Given the description of an element on the screen output the (x, y) to click on. 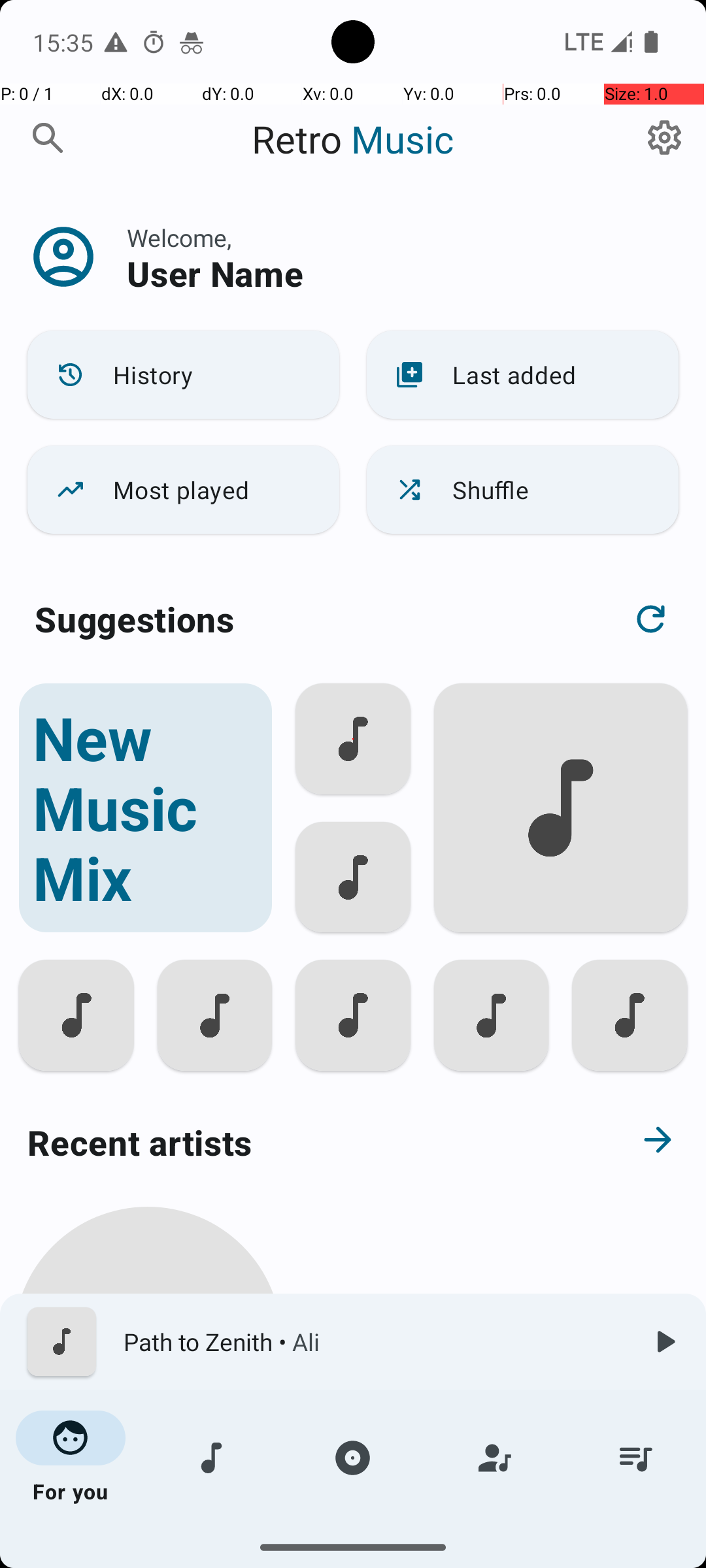
Path to Zenith • Ali Element type: android.widget.TextView (372, 1341)
Samuel Element type: android.widget.TextView (147, 1503)
